Given the description of an element on the screen output the (x, y) to click on. 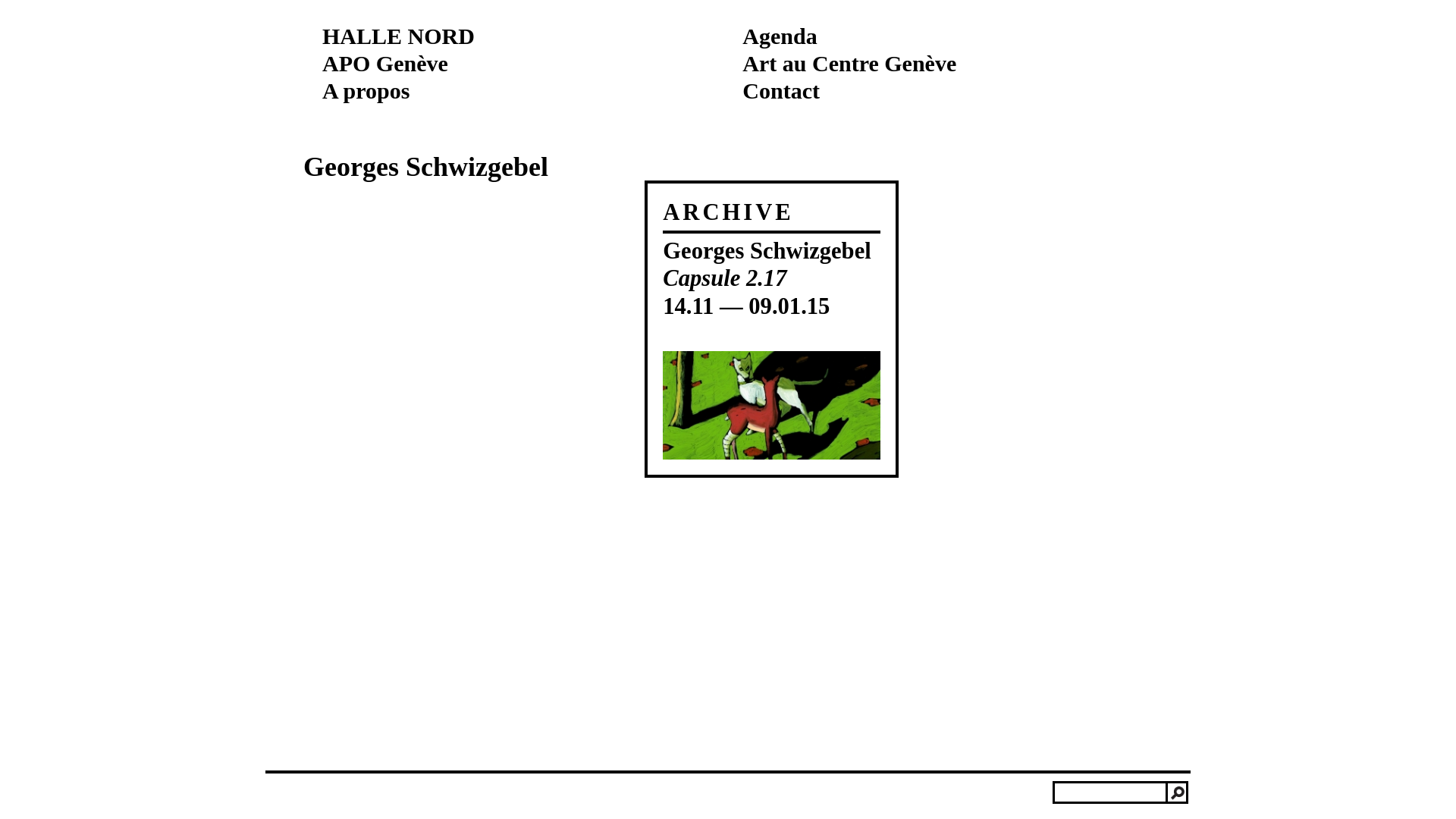
Agenda Element type: text (779, 36)
HALLE NORD Element type: text (398, 36)
Contact Element type: text (780, 90)
A propos Element type: text (365, 90)
Rechercher Element type: text (1176, 792)
